Given the description of an element on the screen output the (x, y) to click on. 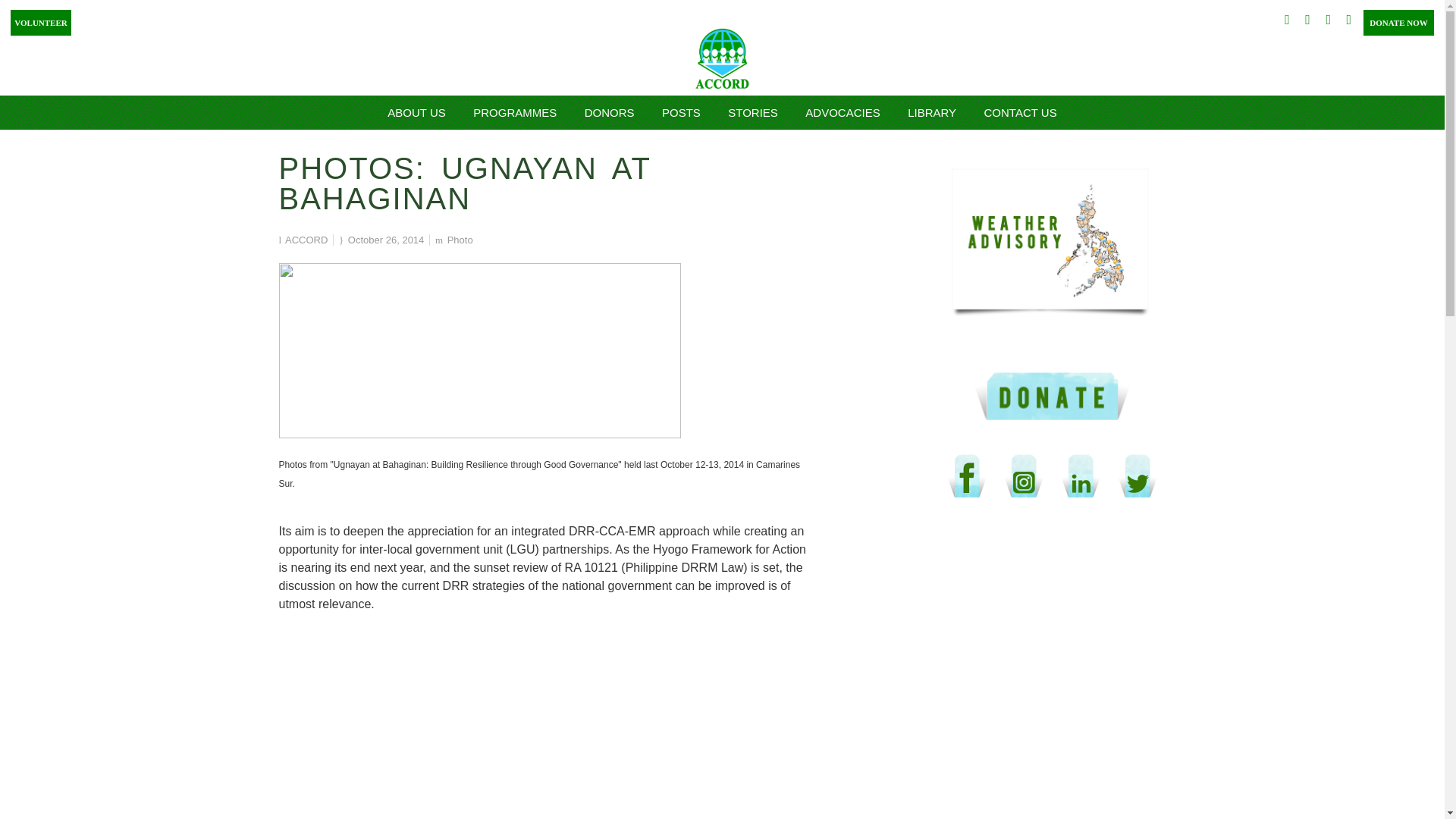
ABOUT US (416, 112)
ADVOCACIES (842, 112)
CONTACT US (1020, 112)
VOLUNTEER (38, 19)
PROGRAMMES (515, 112)
Photo (459, 239)
ACCORD (306, 239)
Posts by ACCORD (306, 239)
LIBRARY (931, 112)
STORIES (753, 112)
